Given the description of an element on the screen output the (x, y) to click on. 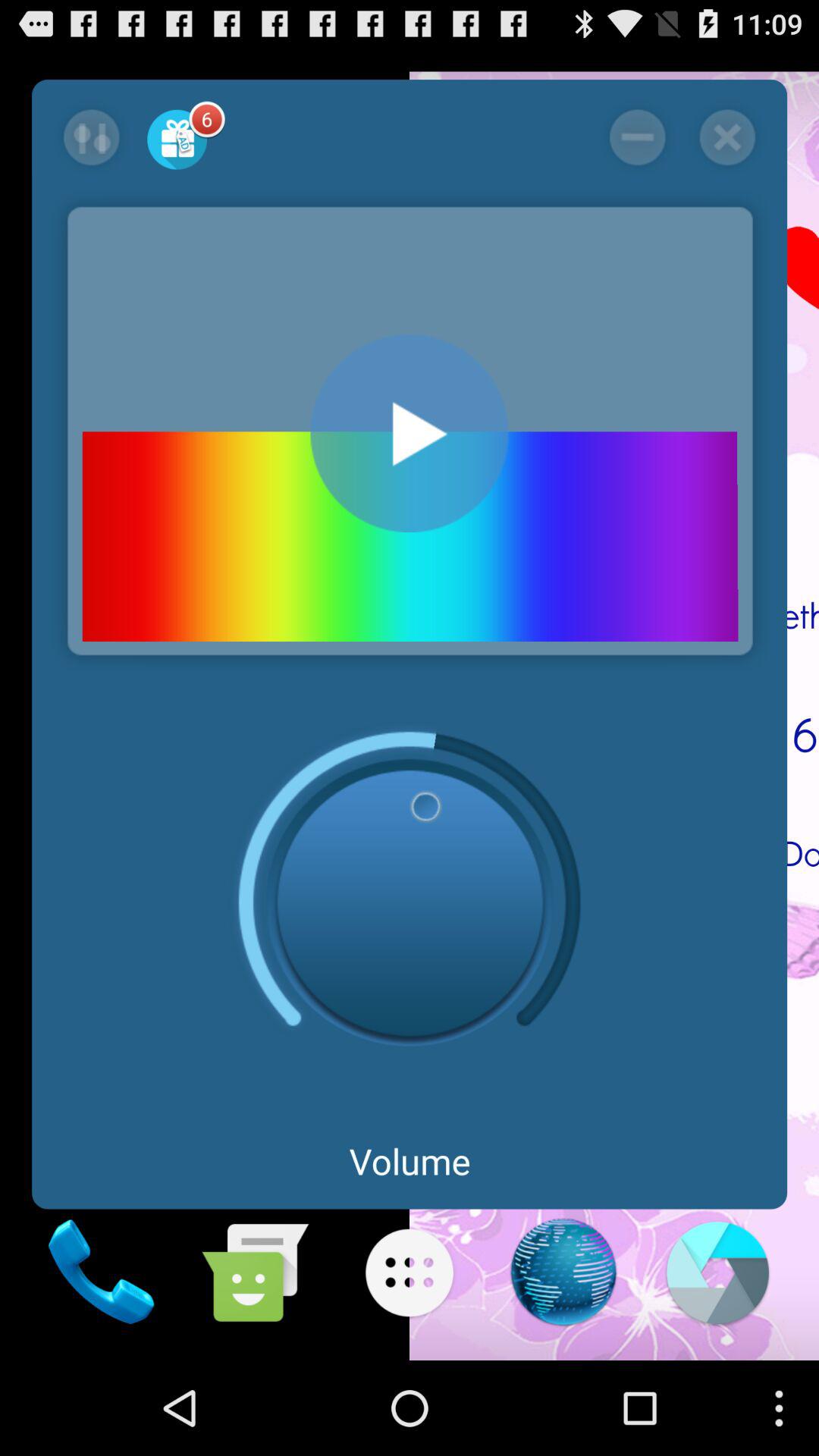
swap selection (91, 137)
